Given the description of an element on the screen output the (x, y) to click on. 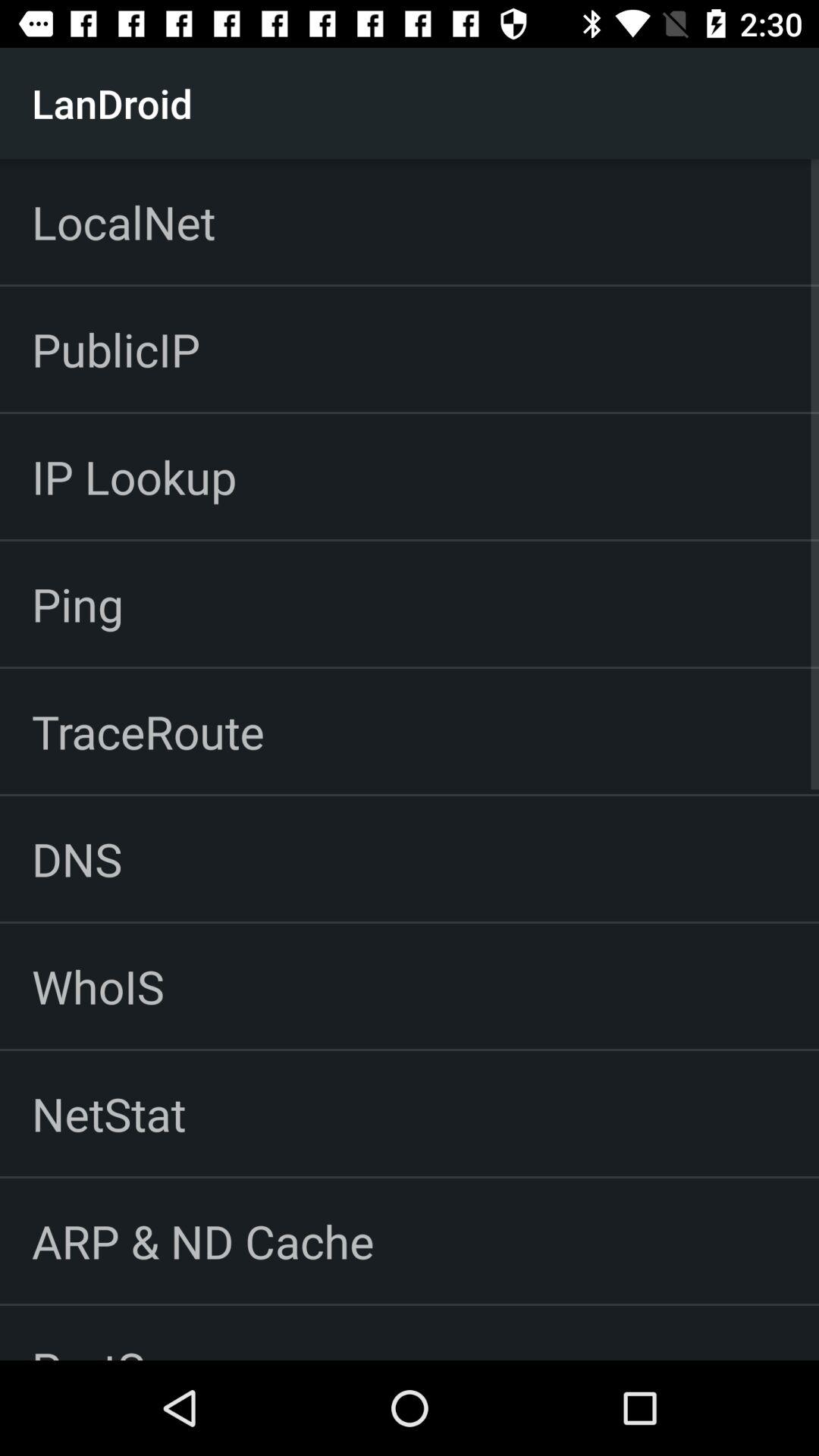
scroll to netstat app (108, 1113)
